Given the description of an element on the screen output the (x, y) to click on. 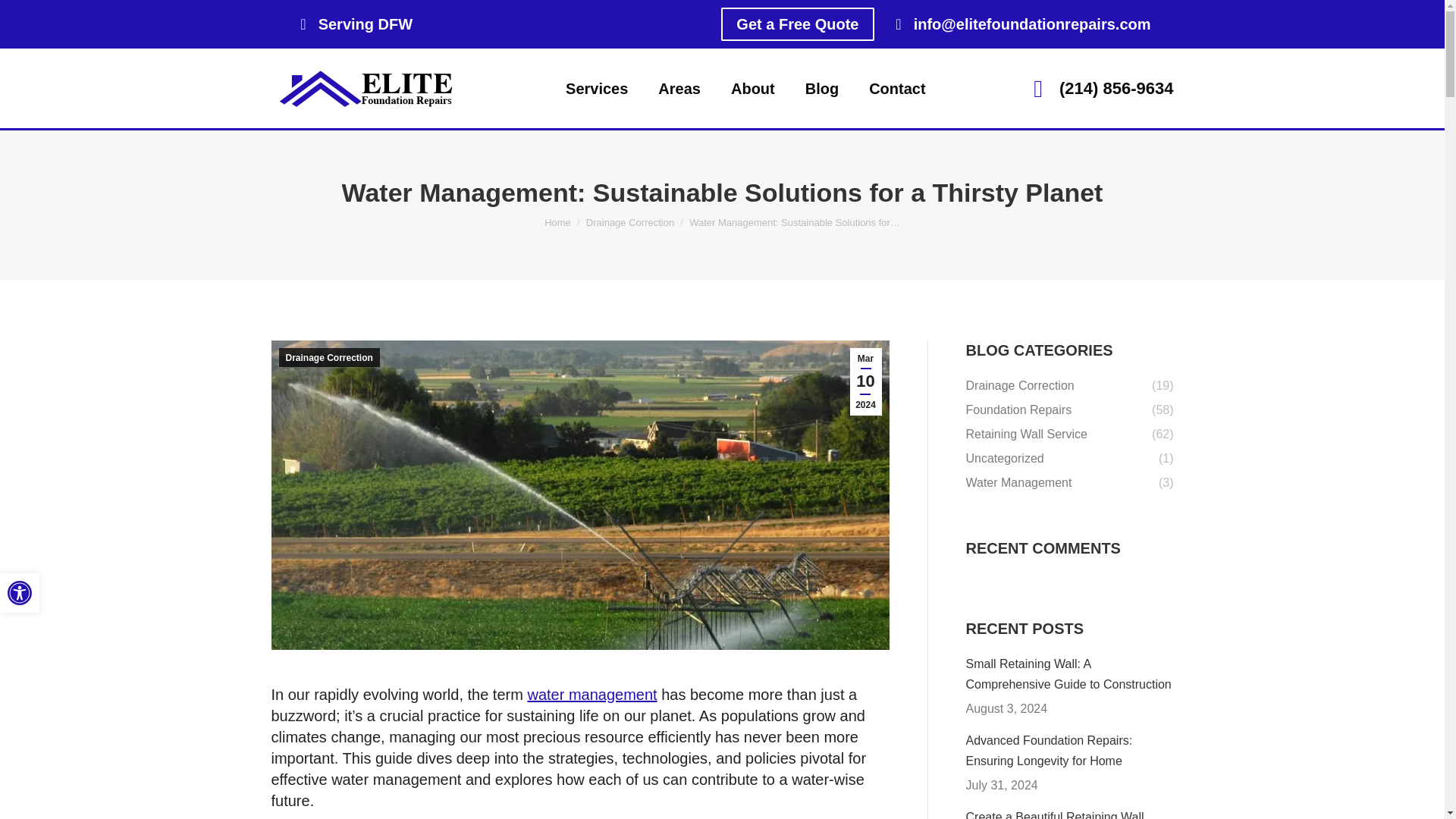
Areas (679, 87)
About (752, 87)
Services (596, 87)
Get a Free Quote (796, 23)
Drainage Correction (630, 222)
Blog (821, 87)
Contact (896, 87)
Home (557, 222)
Accessibility Tools (19, 592)
